Given the description of an element on the screen output the (x, y) to click on. 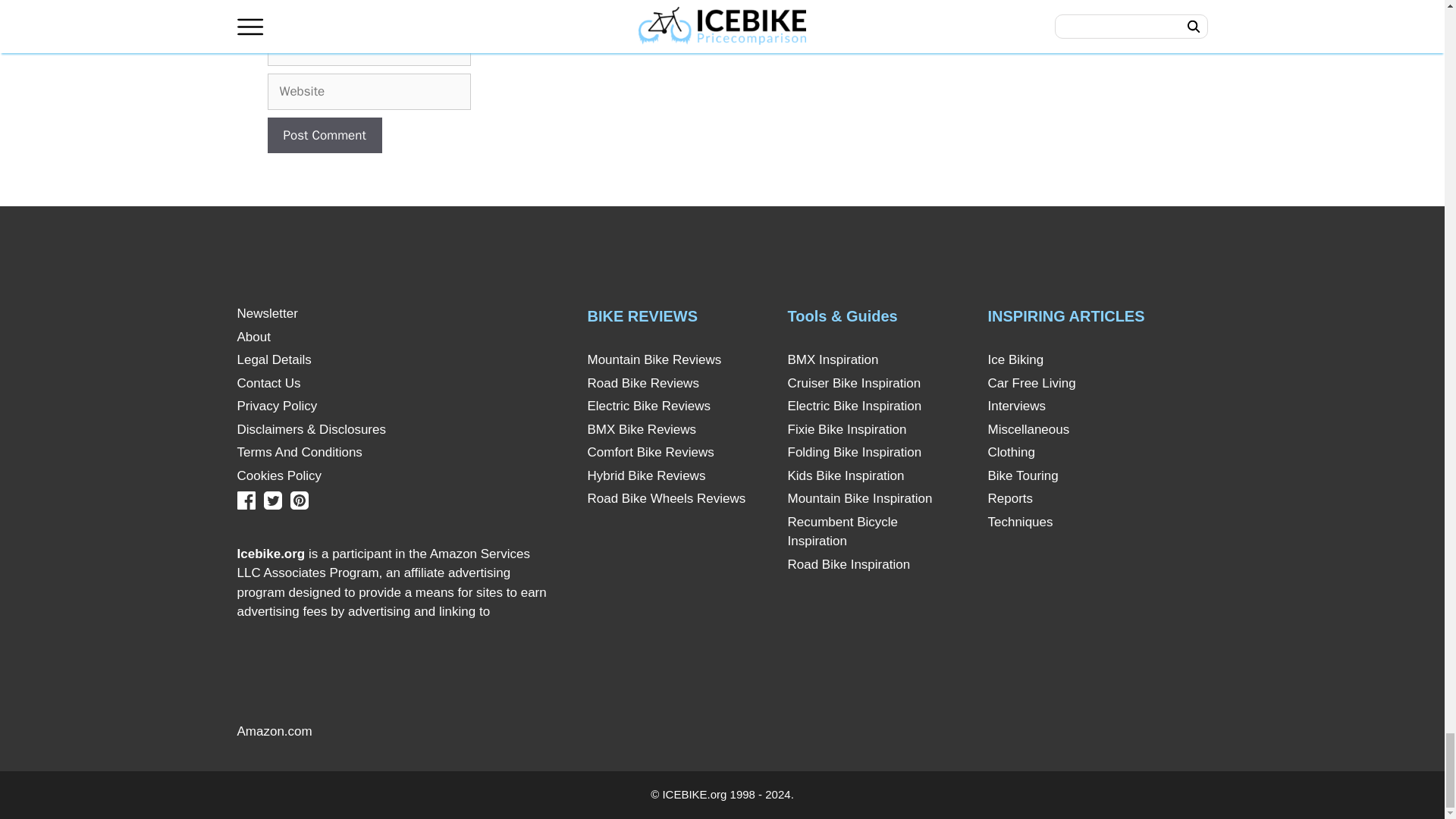
Post Comment (323, 135)
